Given the description of an element on the screen output the (x, y) to click on. 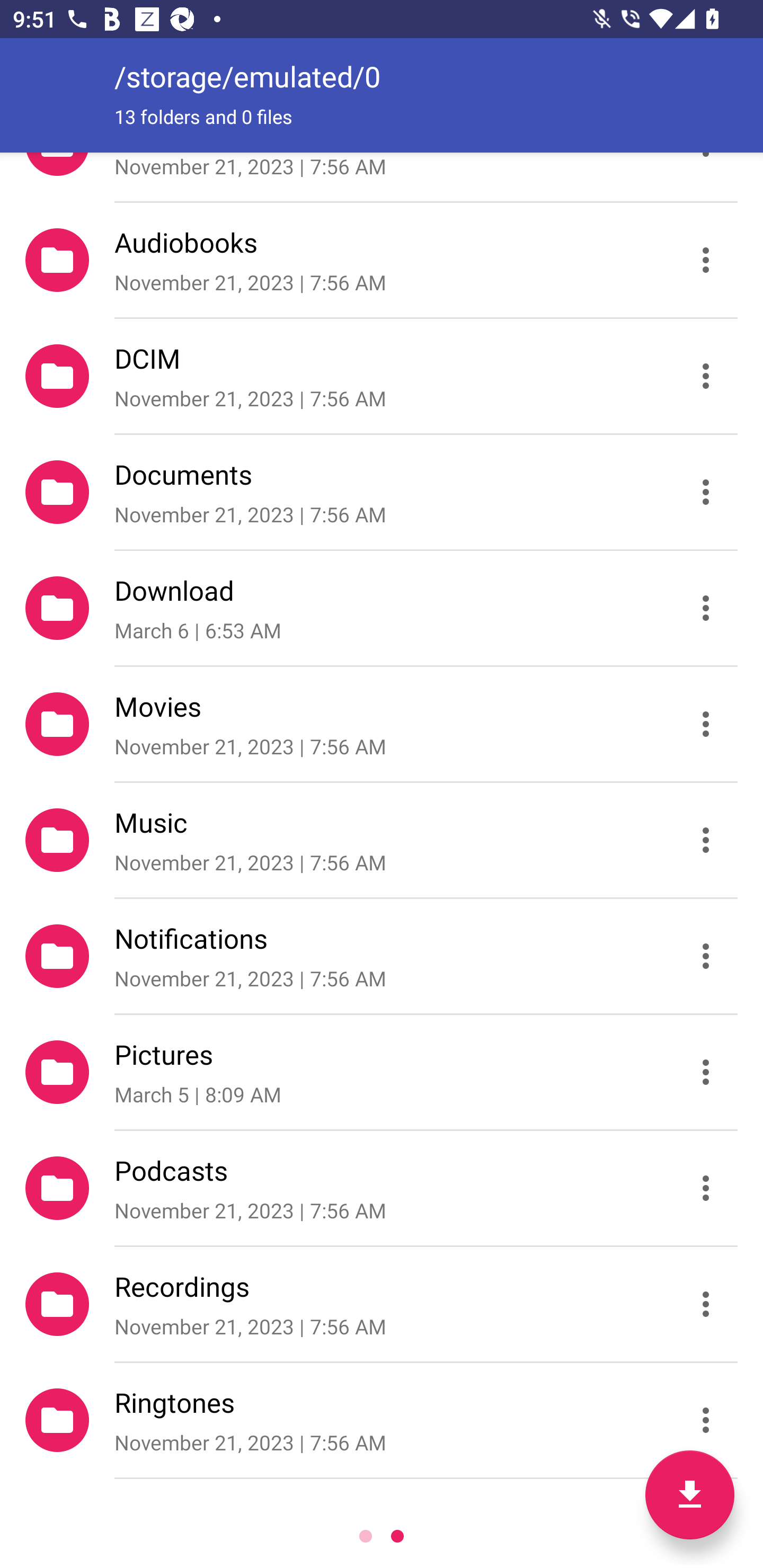
Audiobooks November 21, 2023 | 7:56 AM (381, 259)
DCIM November 21, 2023 | 7:56 AM (381, 375)
Documents November 21, 2023 | 7:56 AM (381, 491)
Download March 6 | 6:53 AM (381, 607)
Movies November 21, 2023 | 7:56 AM (381, 723)
Music November 21, 2023 | 7:56 AM (381, 839)
Notifications November 21, 2023 | 7:56 AM (381, 955)
Pictures March 5 | 8:09 AM (381, 1071)
Podcasts November 21, 2023 | 7:56 AM (381, 1187)
Recordings November 21, 2023 | 7:56 AM (381, 1303)
Ringtones November 21, 2023 | 7:56 AM (381, 1419)
